Given the description of an element on the screen output the (x, y) to click on. 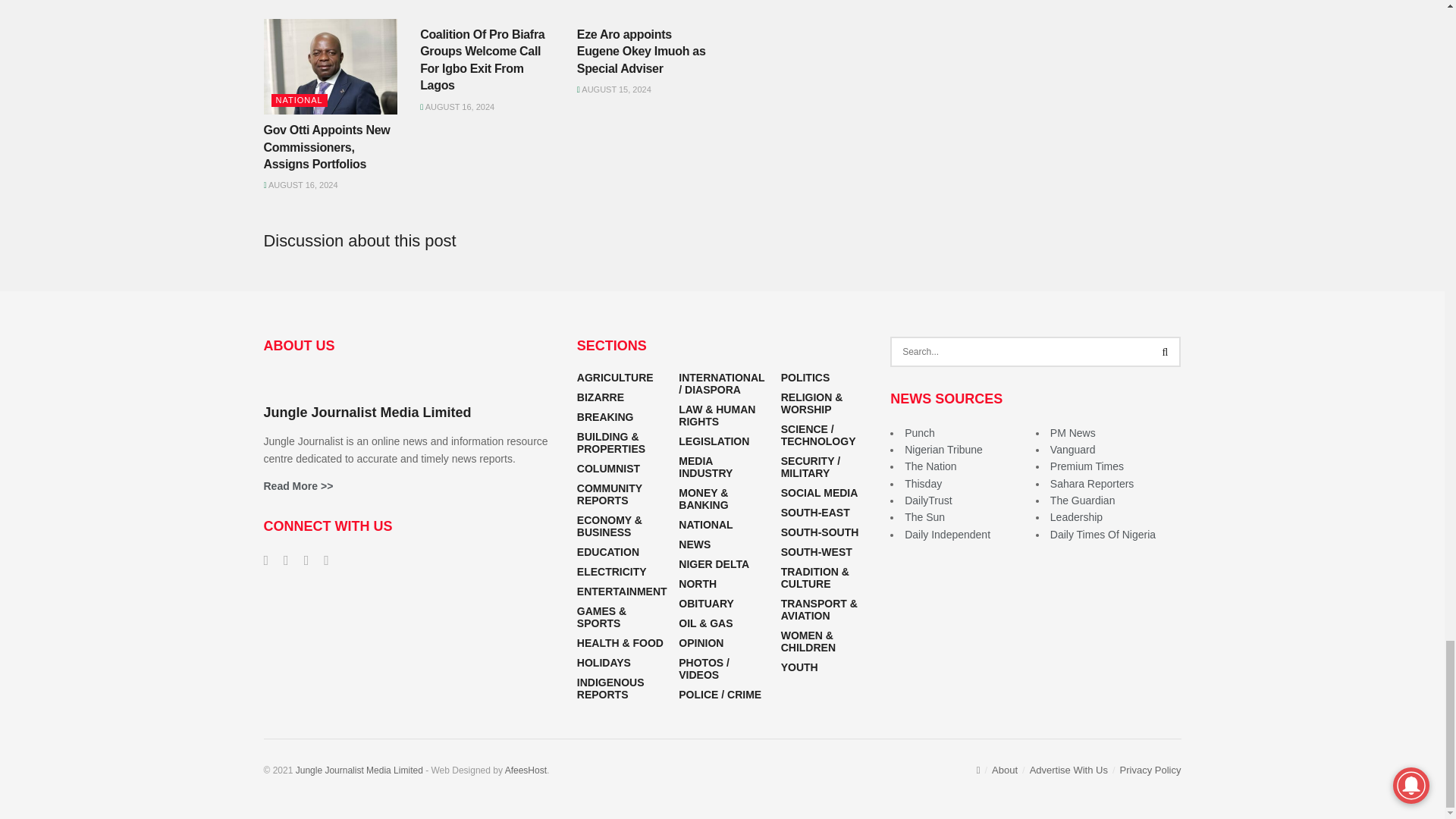
About Jungle Journalist Media Limited (298, 485)
Web Hosting (526, 769)
Jungle Journalist Media Limited (359, 769)
